Given the description of an element on the screen output the (x, y) to click on. 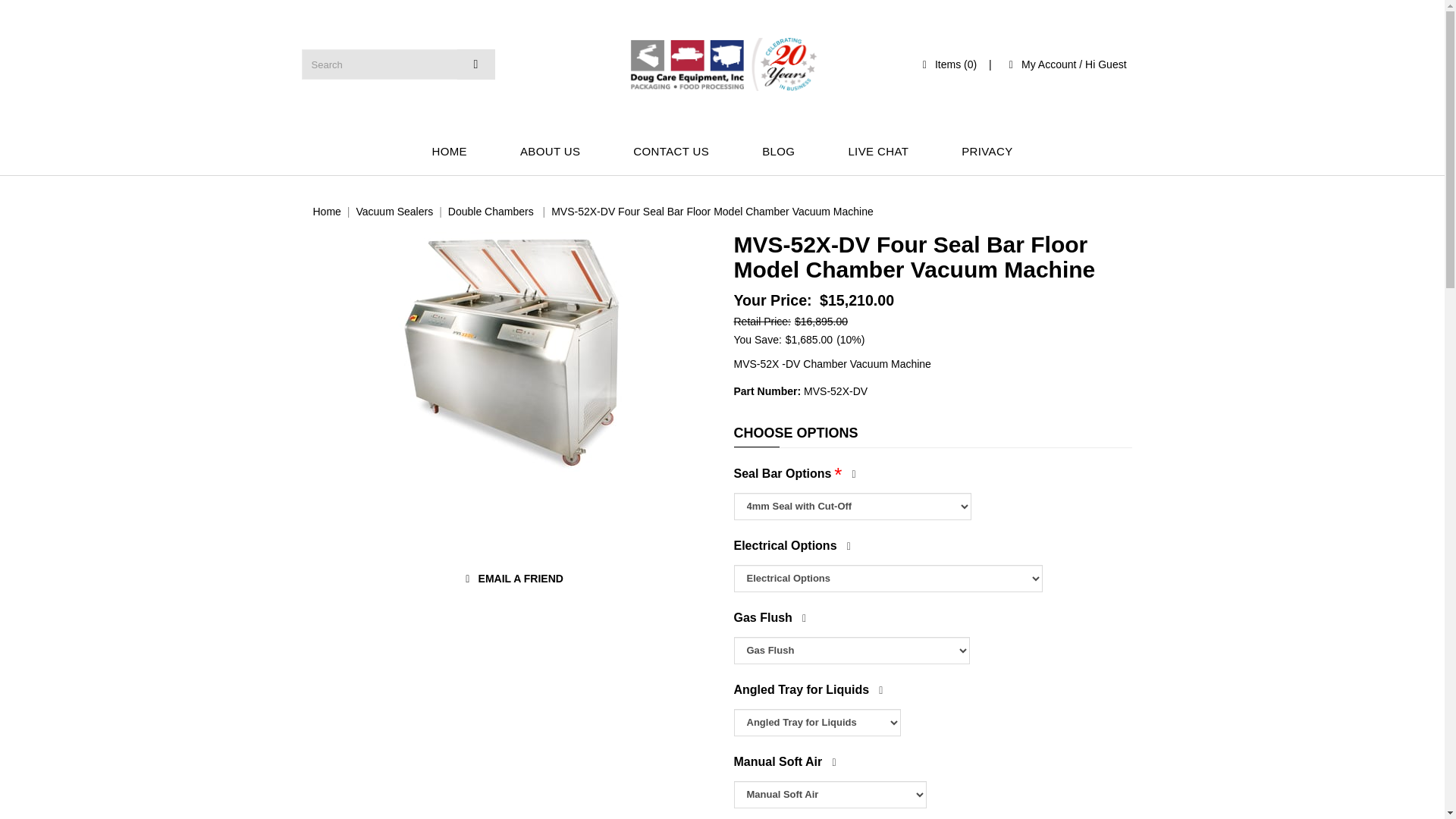
BLOG (778, 152)
HOME (449, 152)
CONTACT US (670, 152)
ABOUT US (549, 152)
LIVE CHAT (877, 152)
PRIVACY (986, 152)
